Given the description of an element on the screen output the (x, y) to click on. 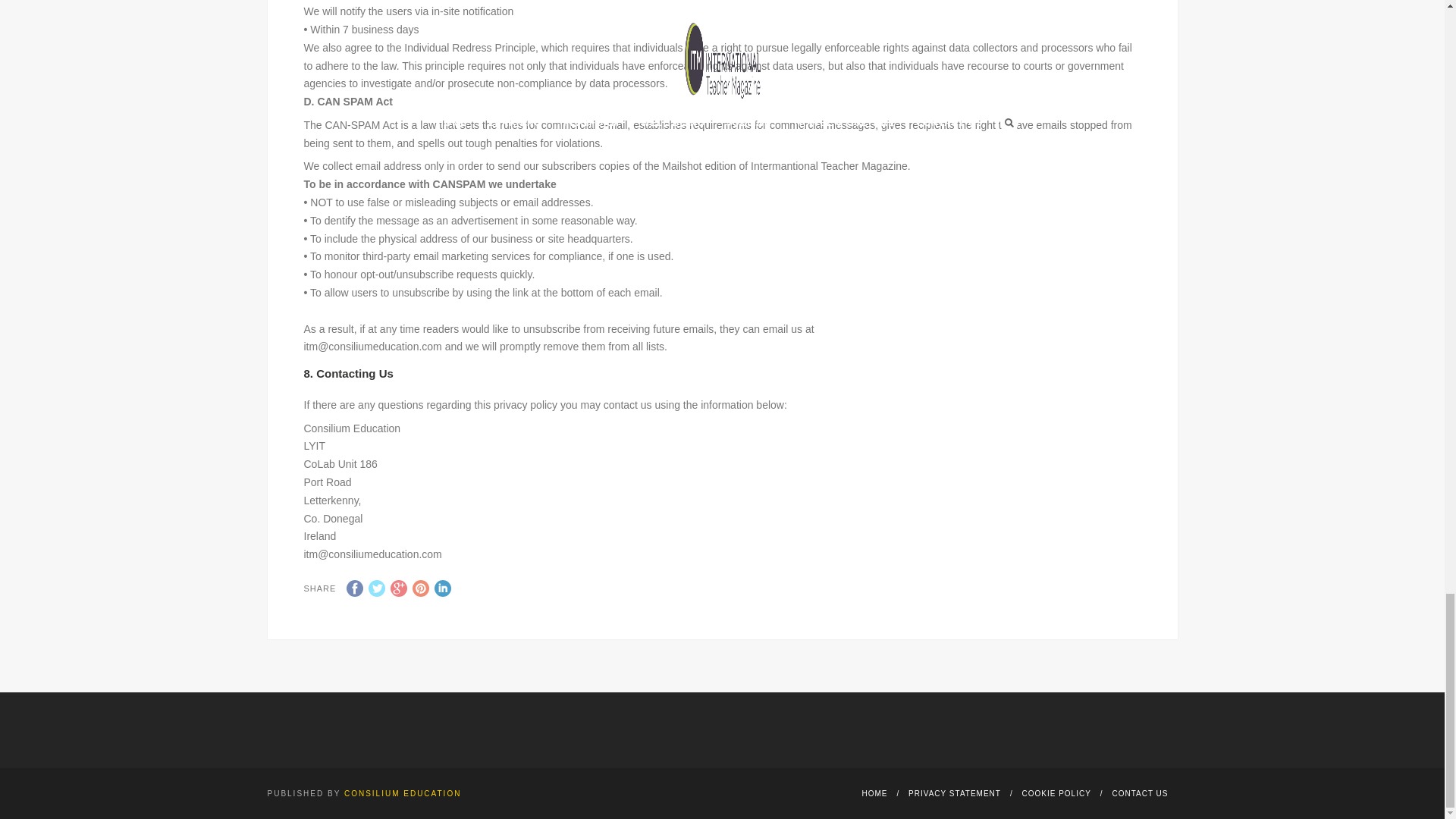
Facebook (354, 588)
Pinterest (420, 588)
Twitter (376, 588)
LinkedIn (442, 588)
